Given the description of an element on the screen output the (x, y) to click on. 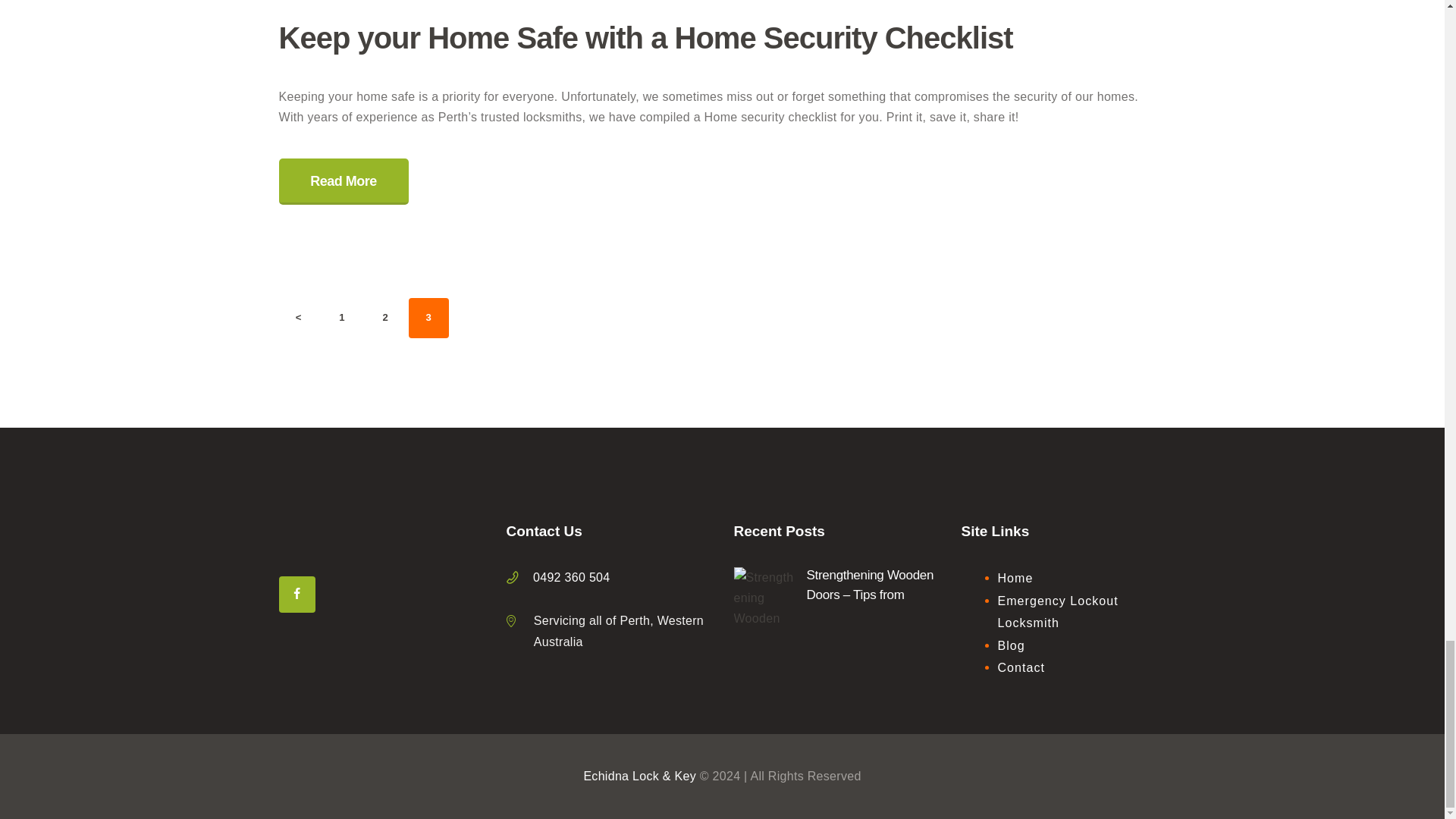
Keep your Home Safe with a Home Security Checklist (722, 37)
Read More (341, 317)
